Given the description of an element on the screen output the (x, y) to click on. 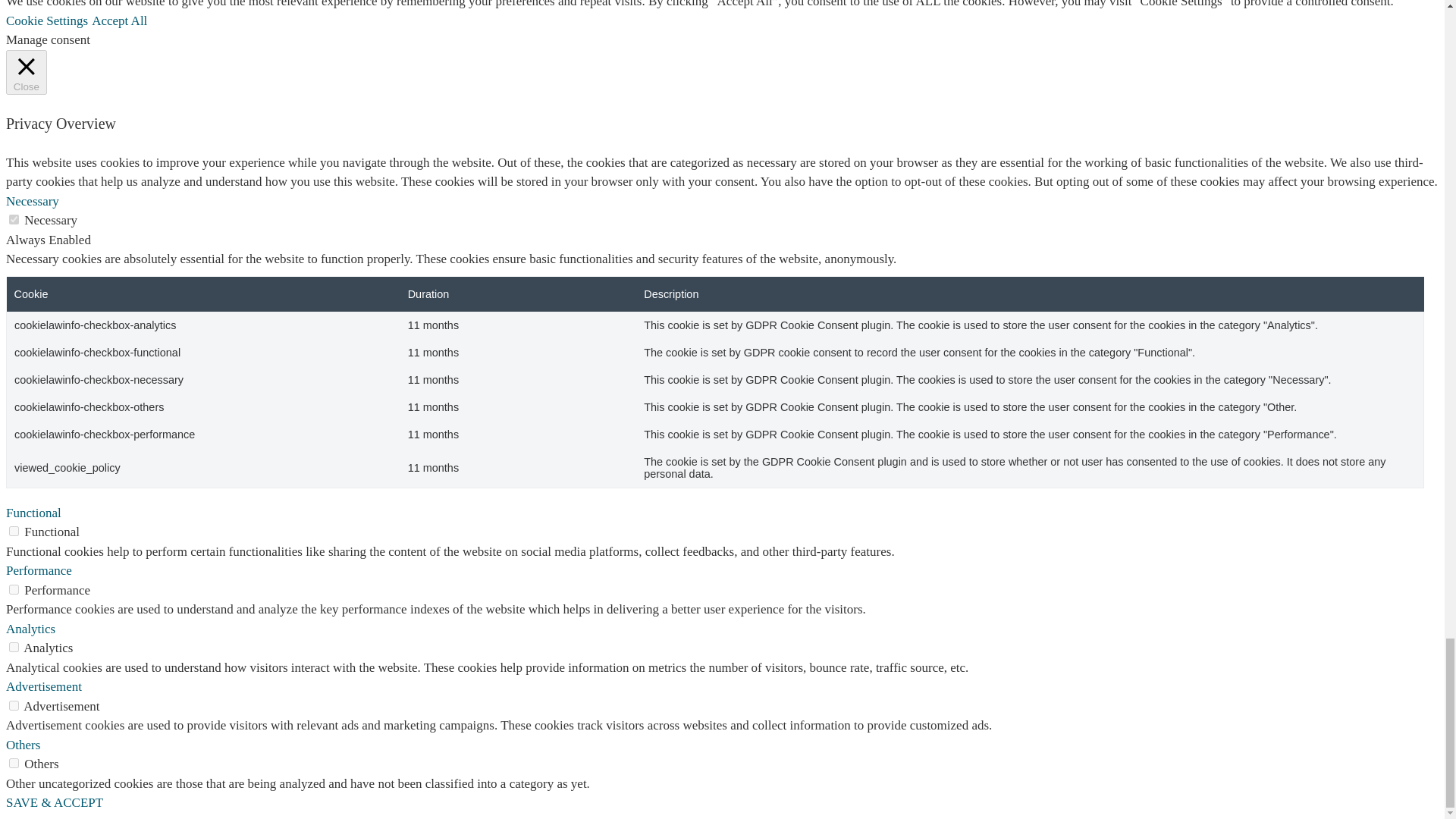
Cookie Settings (46, 20)
on (13, 705)
Analytics (30, 628)
Accept All (119, 20)
on (13, 219)
Advertisement (43, 686)
Necessary (32, 201)
Functional (33, 513)
on (13, 646)
on (13, 763)
